Given the description of an element on the screen output the (x, y) to click on. 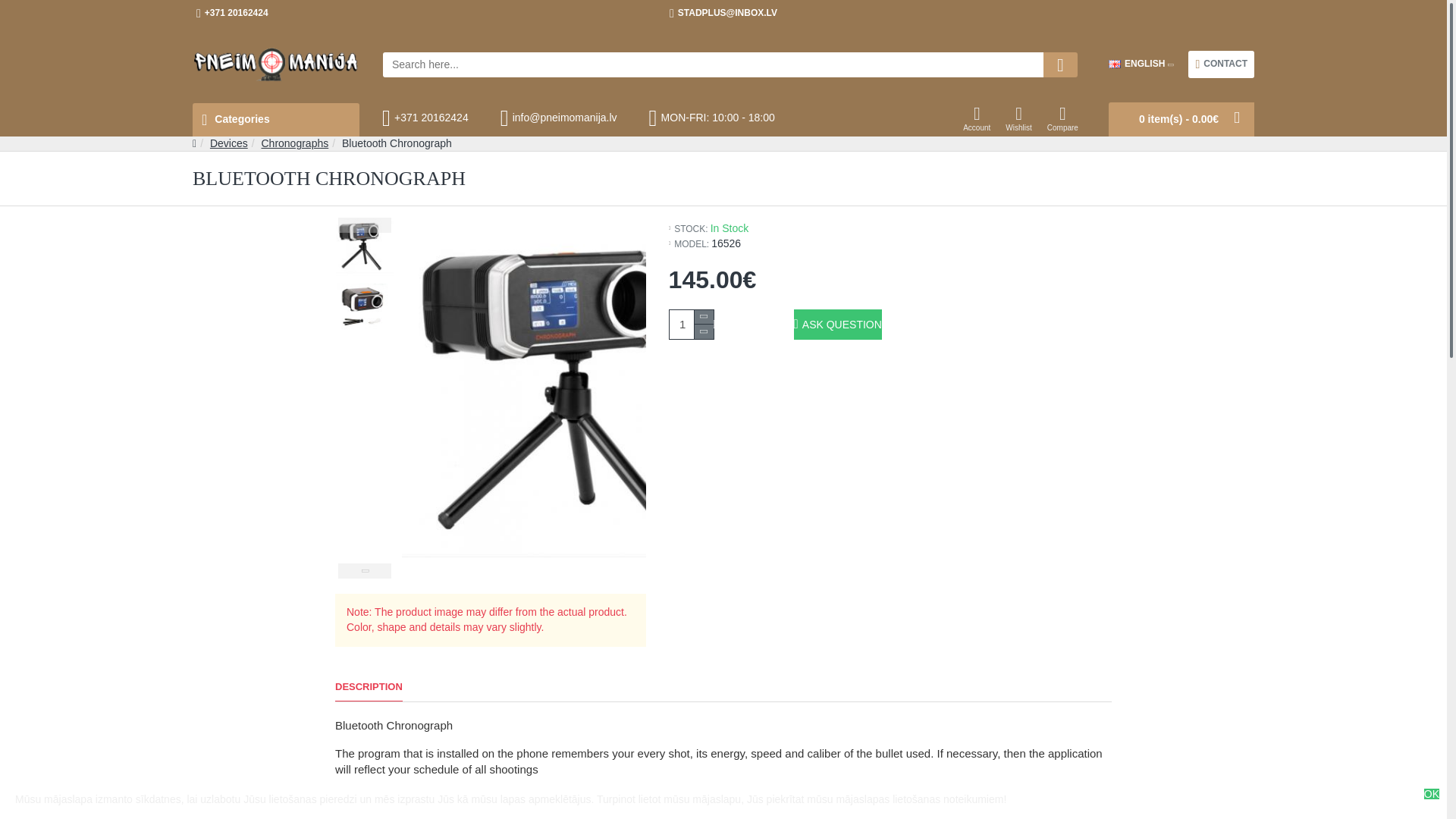
CONTACT (1220, 63)
1 (691, 324)
Pneimomanija.lv (275, 63)
Categories (275, 119)
ENGLISH (1136, 63)
English (1114, 63)
Bluetooth Chronograph (364, 246)
Bluetooth Chronograph (579, 399)
Bluetooth Chronograph (364, 305)
